Given the description of an element on the screen output the (x, y) to click on. 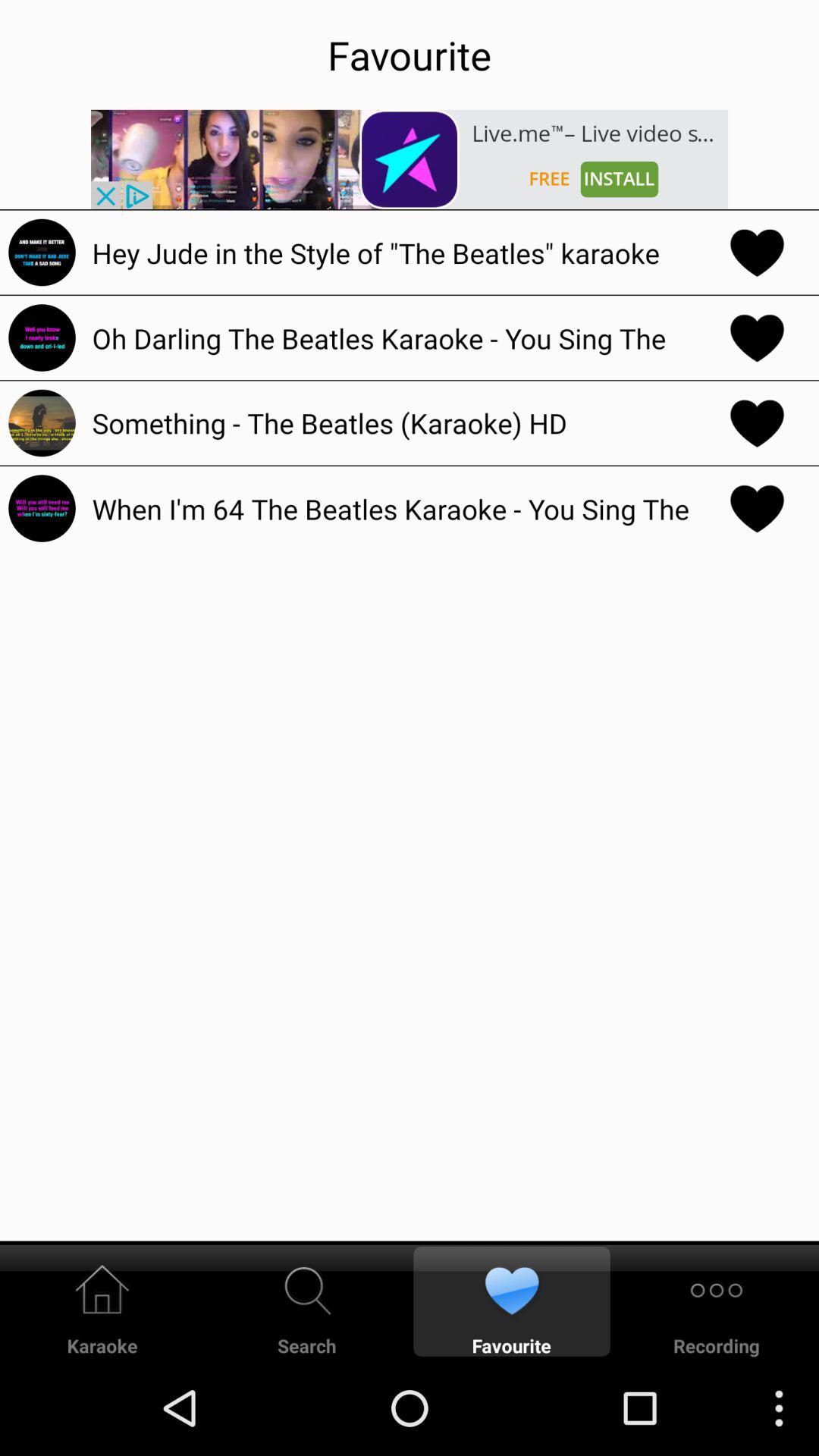
like the track (756, 508)
